Given the description of an element on the screen output the (x, y) to click on. 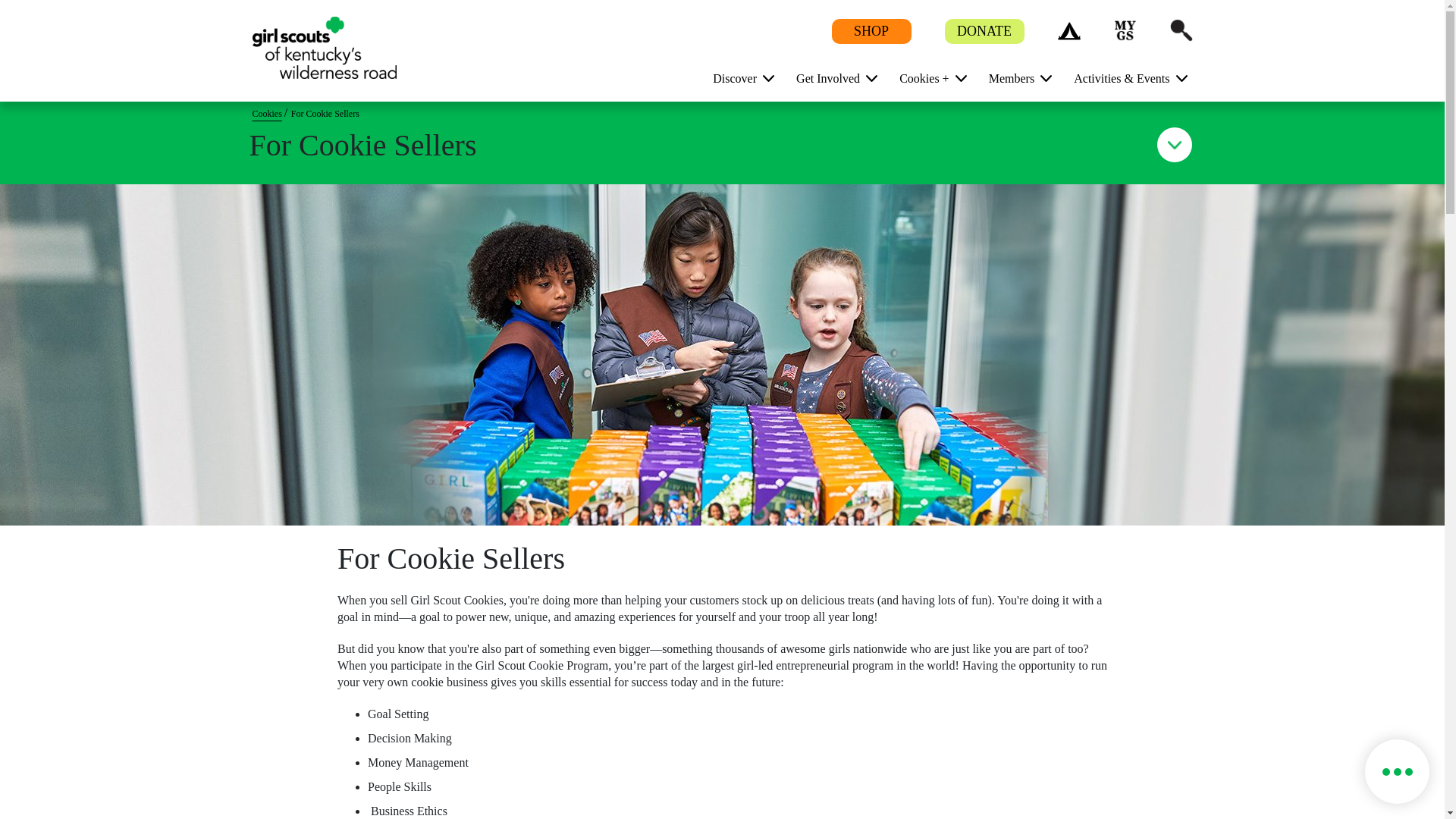
Get Involved (831, 77)
Camp (1068, 29)
SHOP (871, 31)
MyGS (1124, 29)
DONATE (984, 31)
Discover (737, 77)
Search (1180, 29)
